Given the description of an element on the screen output the (x, y) to click on. 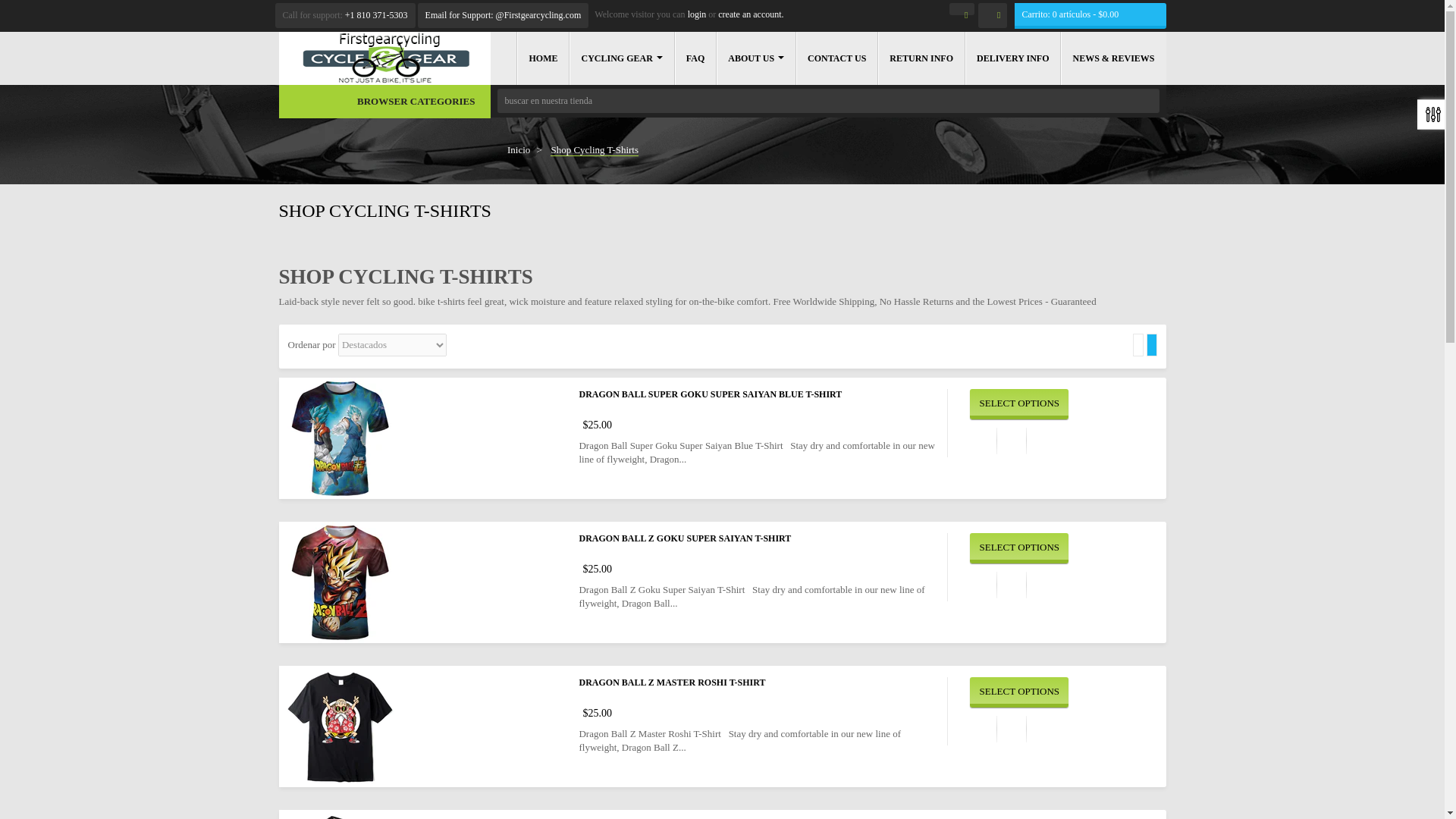
About Us (755, 58)
Cycling Gear (620, 58)
login (695, 14)
create an account. (750, 14)
Login to your customer account (695, 14)
FAQ (695, 58)
Delivery Info (1011, 58)
Contact US (835, 58)
FAQ (695, 58)
DELIVERY INFO (1011, 58)
Contact Us (502, 14)
RETURN INFO (920, 58)
Home (542, 58)
Create an account (750, 14)
ABOUT US (755, 58)
